Given the description of an element on the screen output the (x, y) to click on. 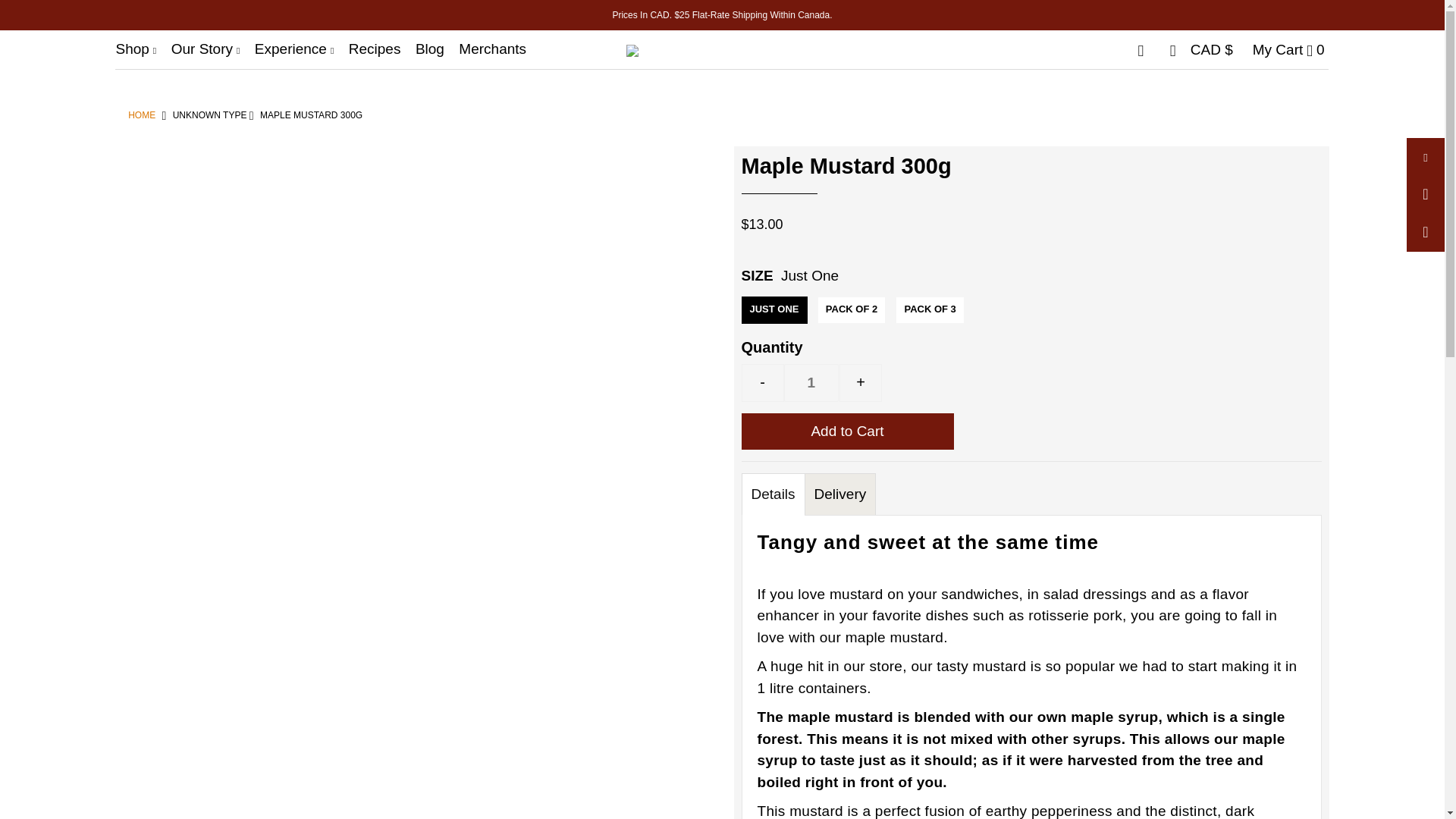
Add to Cart (847, 431)
Shop (141, 48)
1 (811, 382)
Home (141, 114)
